Given the description of an element on the screen output the (x, y) to click on. 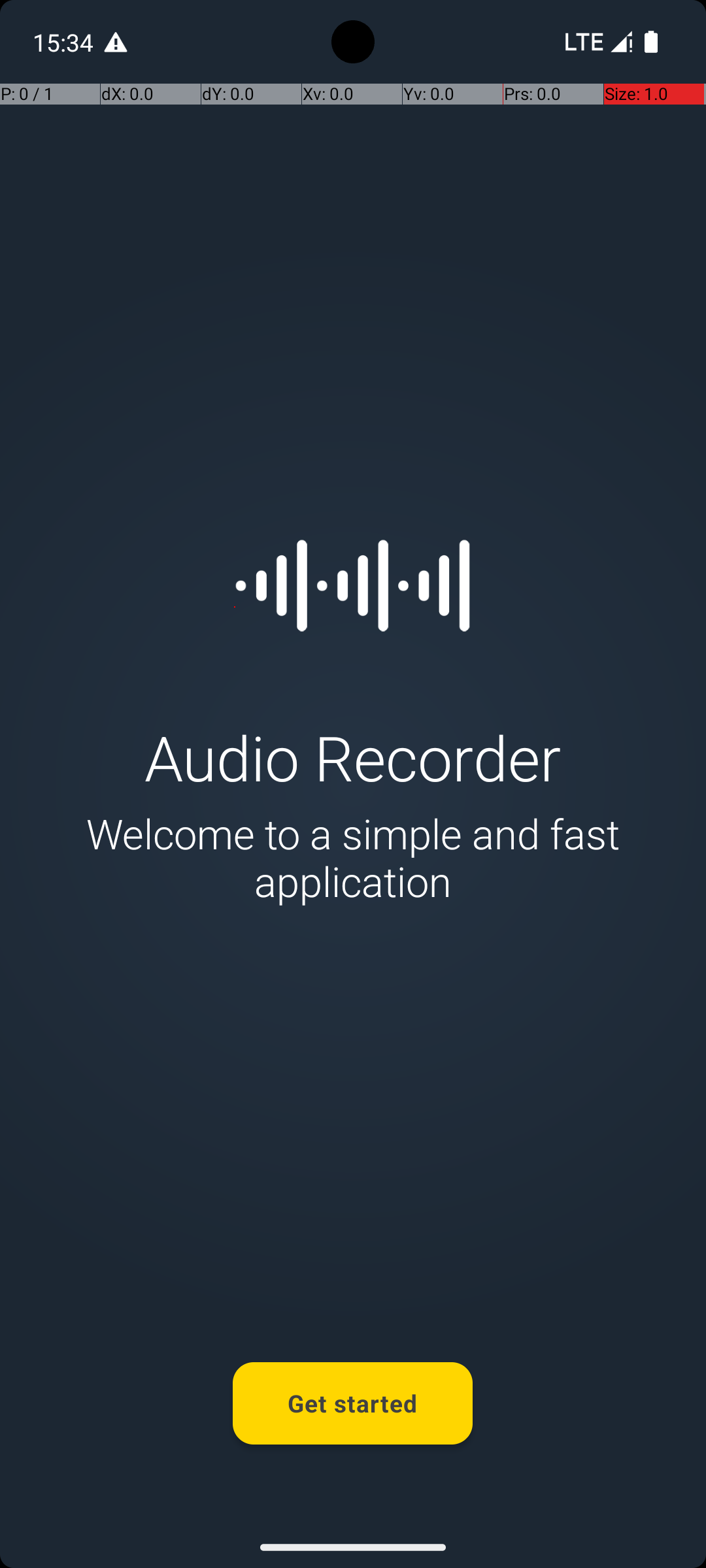
Get started Element type: android.widget.Button (352, 1403)
Audio Recorder Element type: android.widget.TextView (352, 756)
Welcome to a simple and fast application Element type: android.widget.TextView (352, 856)
15:34 Element type: android.widget.TextView (64, 41)
Android System notification: Data warning Element type: android.widget.ImageView (115, 41)
Phone signal full. Element type: android.widget.FrameLayout (595, 41)
Battery 100 percent. Element type: android.widget.LinearLayout (650, 41)
No internet Element type: android.widget.ImageView (582, 41)
